Given the description of an element on the screen output the (x, y) to click on. 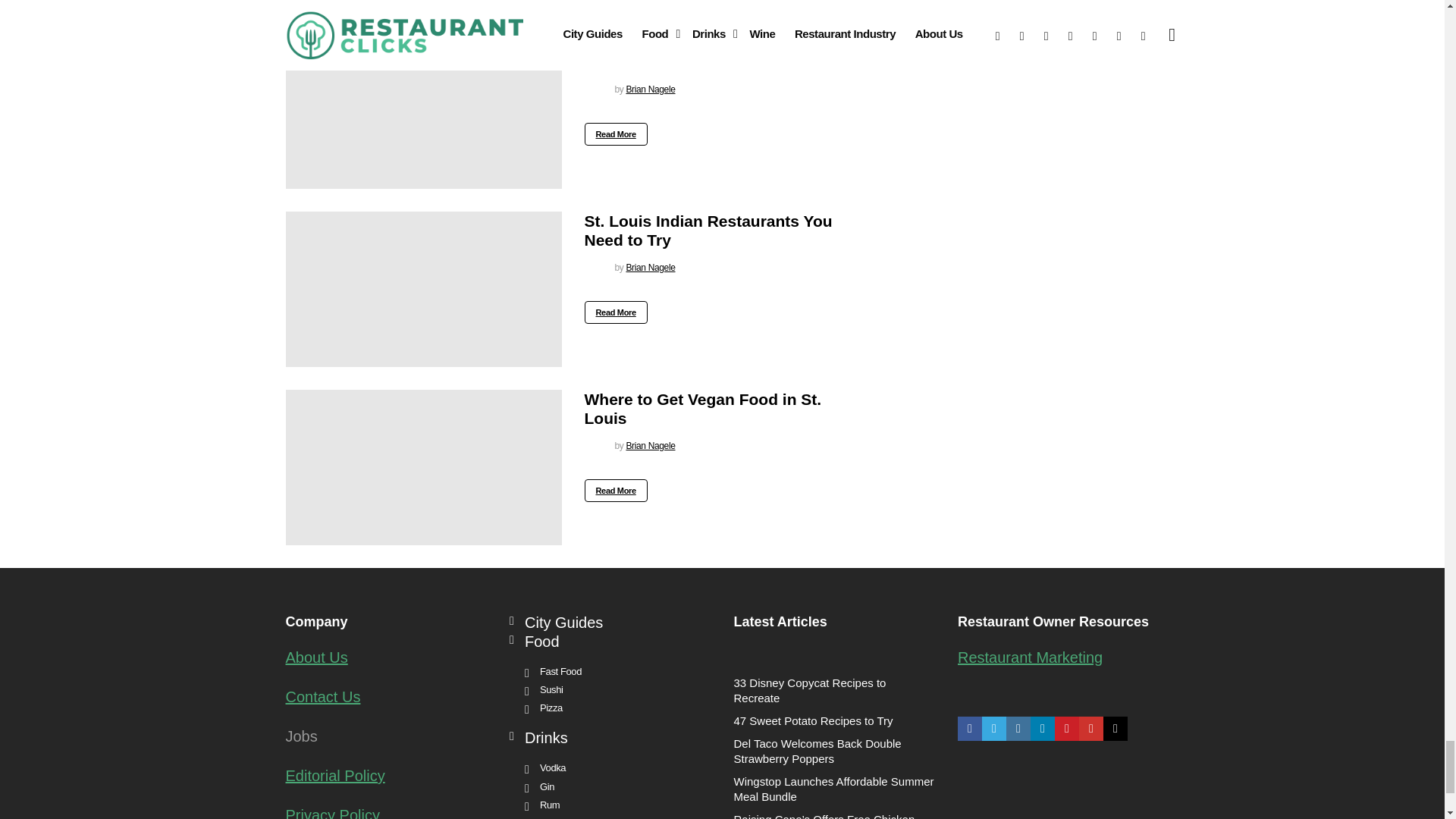
Posts by Brian Nagele (650, 267)
St. Louis Indian Restaurants You Need to Try (422, 288)
Posts by Brian Nagele (650, 89)
Where to Get Vegan Food in St. Louis (422, 467)
Where to Get Brunch in St. Louis This Weekend (422, 111)
